Given the description of an element on the screen output the (x, y) to click on. 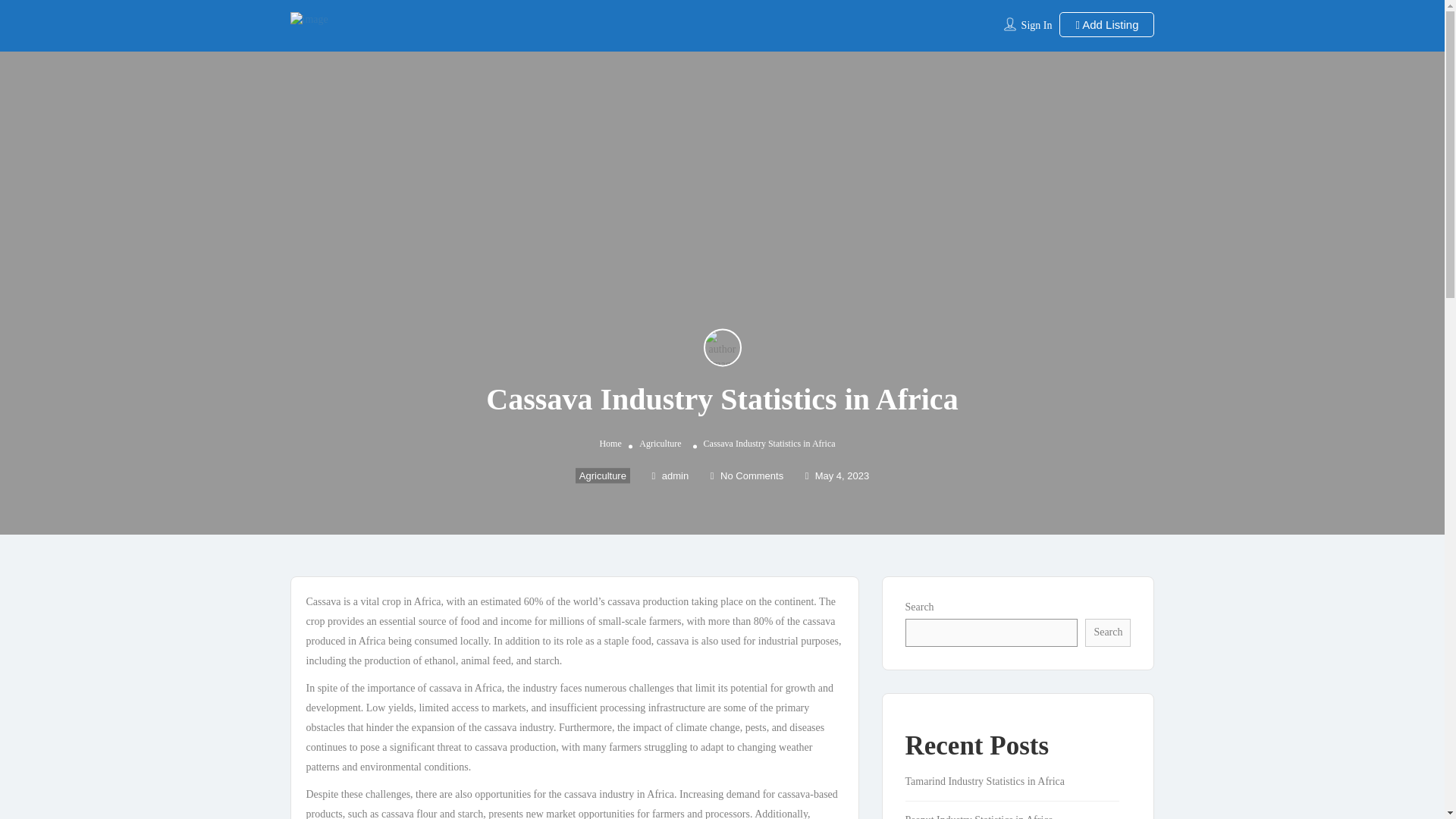
admin (669, 475)
Sign In (1037, 25)
No Comments (746, 475)
Peanut Industry Statistics in Africa (986, 816)
Agriculture (602, 475)
Agriculture (660, 443)
Home (609, 443)
Add Listing (1106, 24)
Tamarind Industry Statistics in Africa (992, 781)
Search (1107, 633)
